Given the description of an element on the screen output the (x, y) to click on. 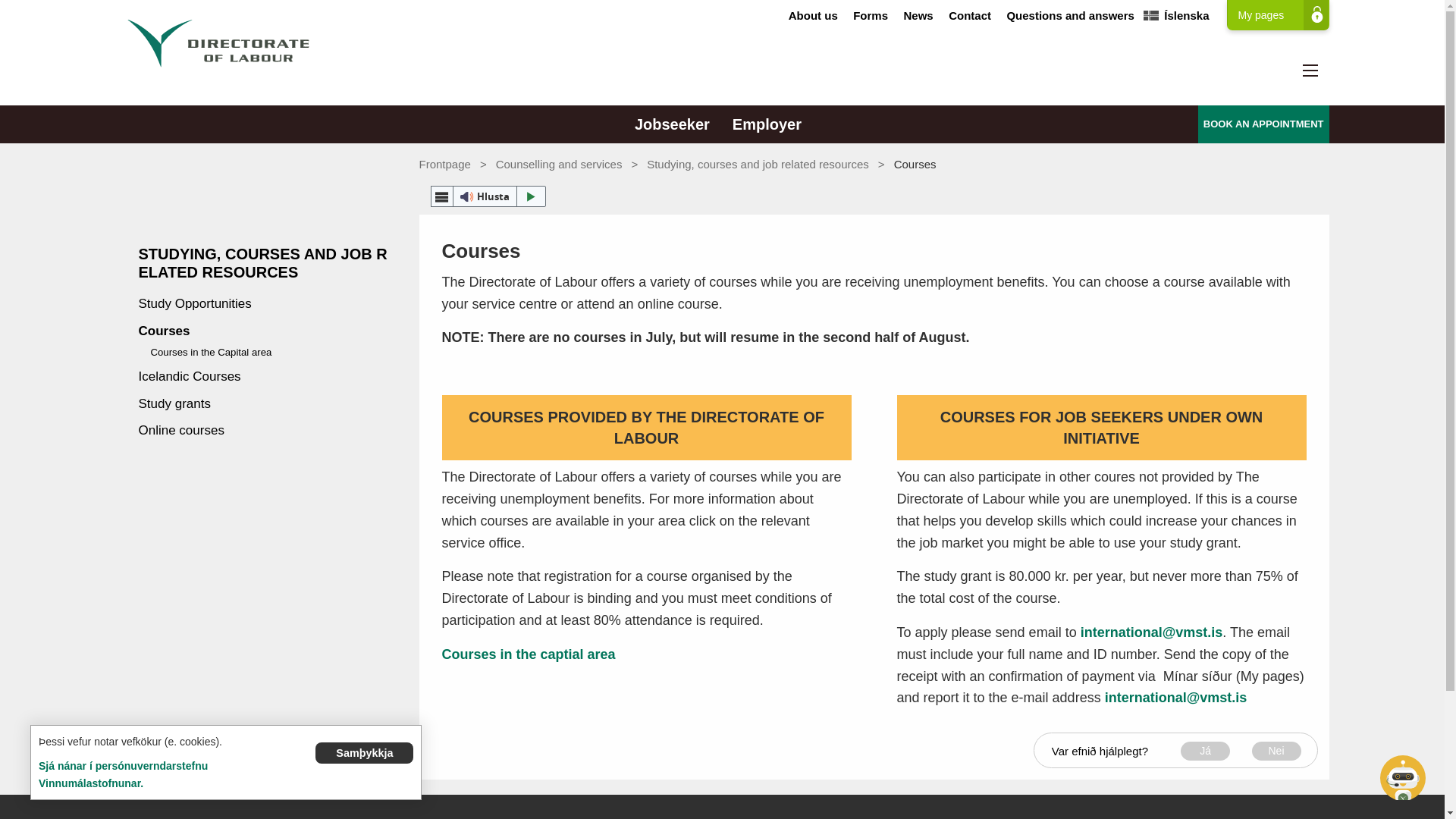
Hlusta (488, 196)
News (918, 15)
Listen to this page using ReadSpeaker webReader (488, 196)
Frontpage (444, 164)
Studying, courses and job related resources (757, 164)
Forms (870, 15)
Courses in the Capital area (527, 654)
Counselling and services (559, 164)
Jobseeker (671, 124)
Contact (970, 15)
Employer (766, 124)
My pages (1278, 15)
About us (813, 15)
Courses in the captial area (527, 654)
webReader menu (441, 196)
